Given the description of an element on the screen output the (x, y) to click on. 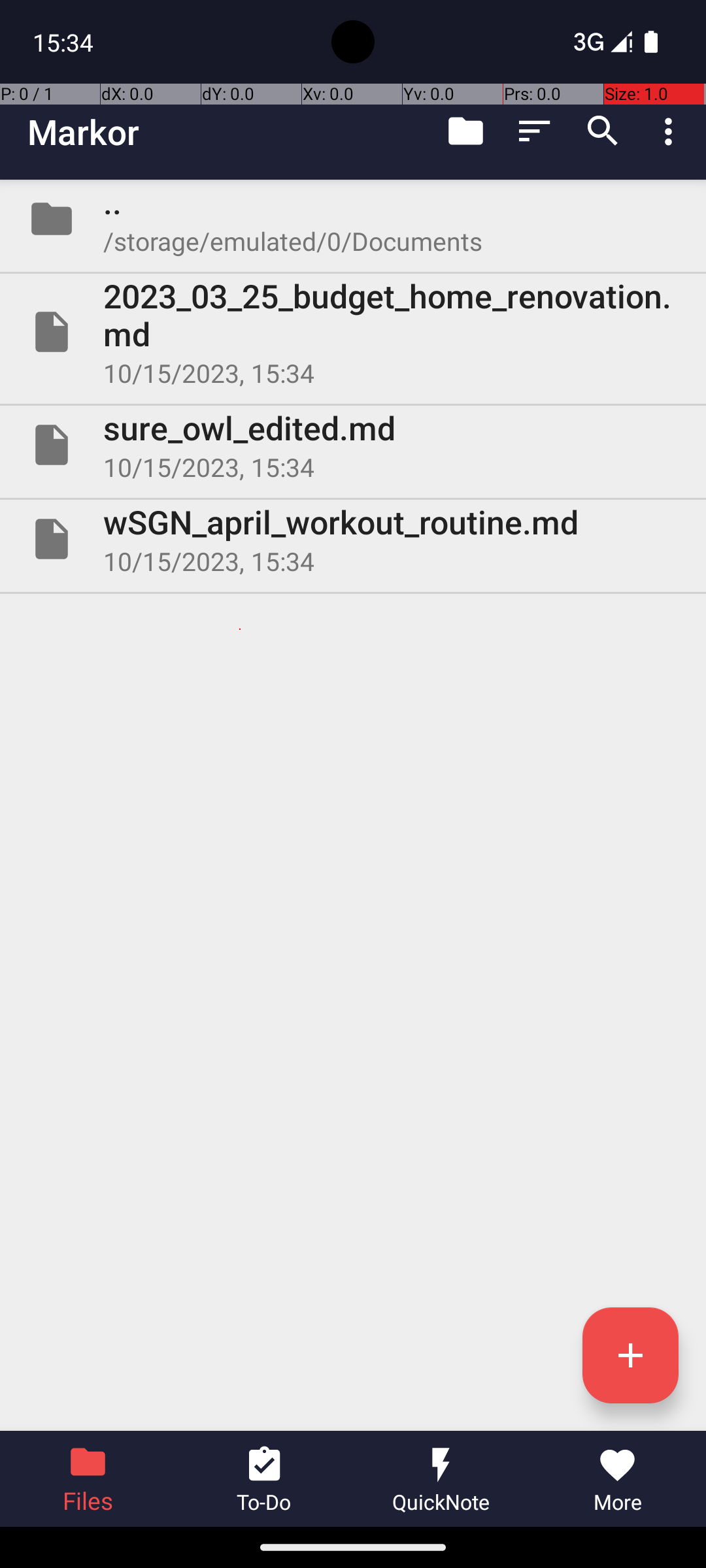
Create a new file or folder Element type: android.widget.ImageButton (630, 1355)
Go to Element type: android.widget.TextView (465, 131)
Sort by Element type: android.widget.TextView (534, 131)
Folder ..  Element type: android.widget.LinearLayout (353, 218)
File 2023_03_25_budget_home_renovation.md  Element type: android.widget.LinearLayout (353, 331)
File sure_owl_edited.md  Element type: android.widget.LinearLayout (353, 444)
File wSGN_april_workout_routine.md  Element type: android.widget.LinearLayout (353, 538)
